Given the description of an element on the screen output the (x, y) to click on. 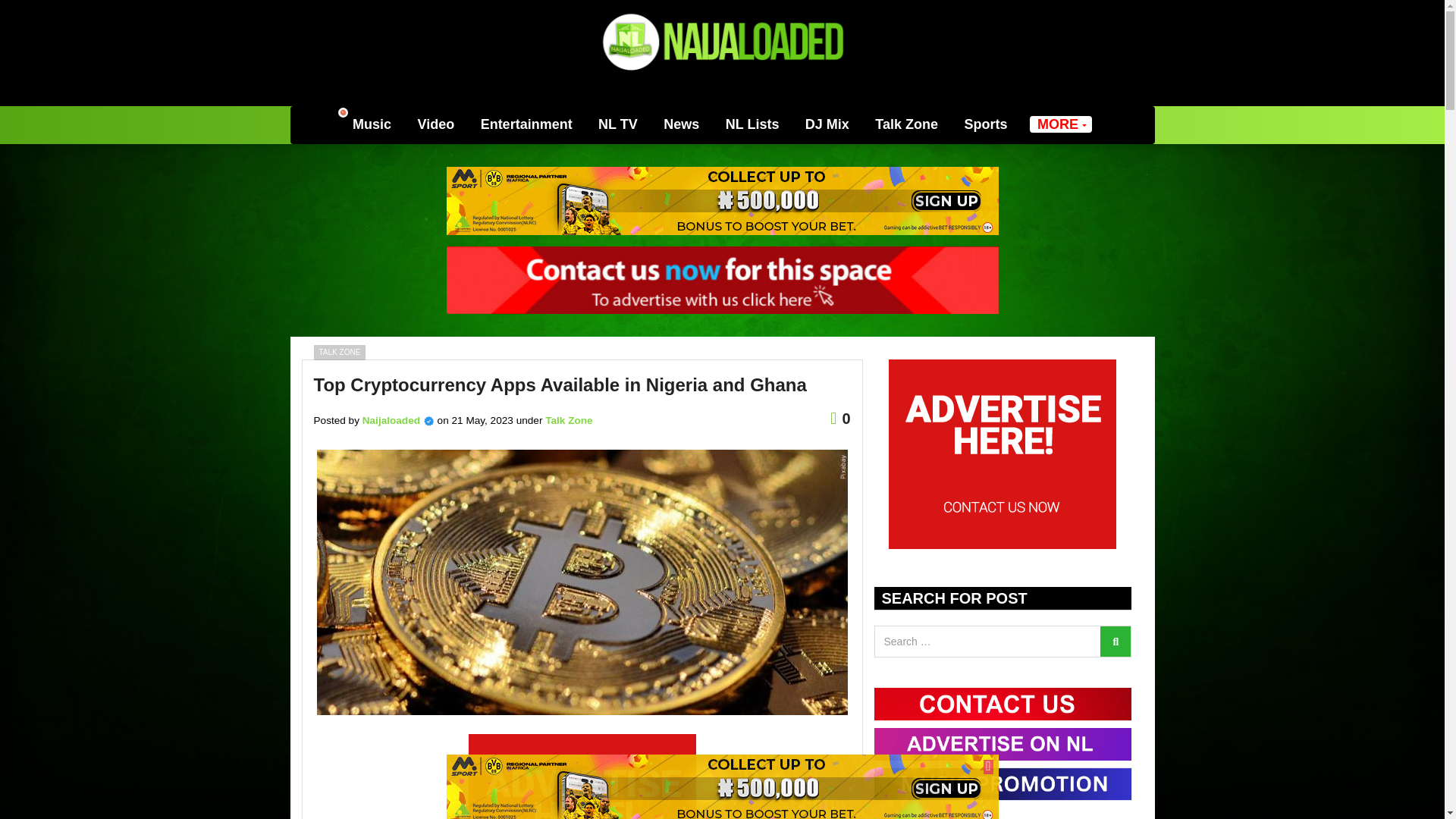
Video (435, 124)
Posts by Naijaloaded (391, 419)
News (681, 124)
Sports (984, 124)
NL TV (617, 124)
NL Lists (752, 124)
DJ Mix (826, 124)
Music (371, 124)
Entertainment (525, 124)
Talk Zone (906, 124)
MORE (1060, 124)
